Given the description of an element on the screen output the (x, y) to click on. 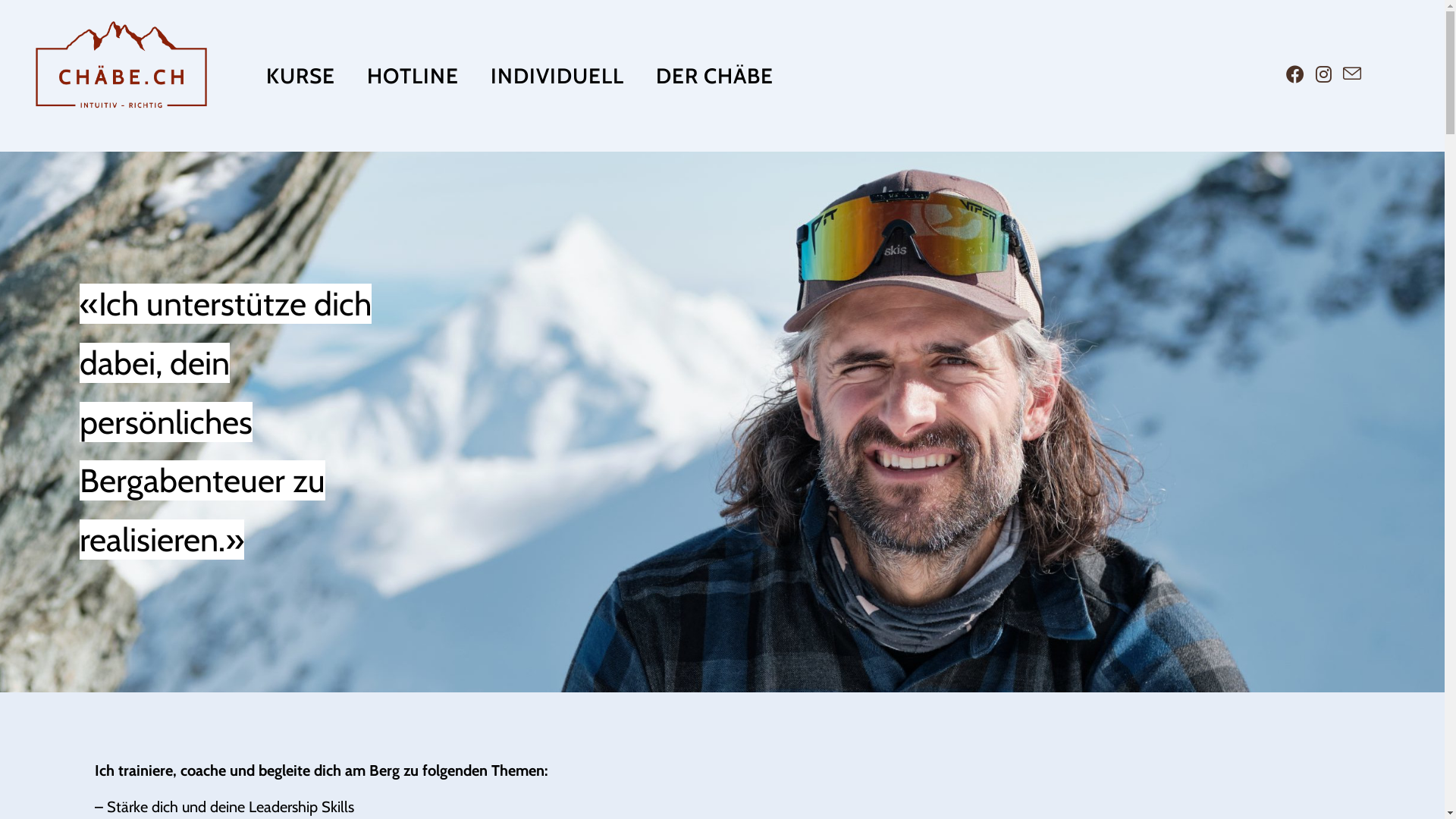
HOTLINE Element type: text (412, 75)
KURSE Element type: text (300, 75)
INDIVIDUELL Element type: text (557, 75)
